Given the description of an element on the screen output the (x, y) to click on. 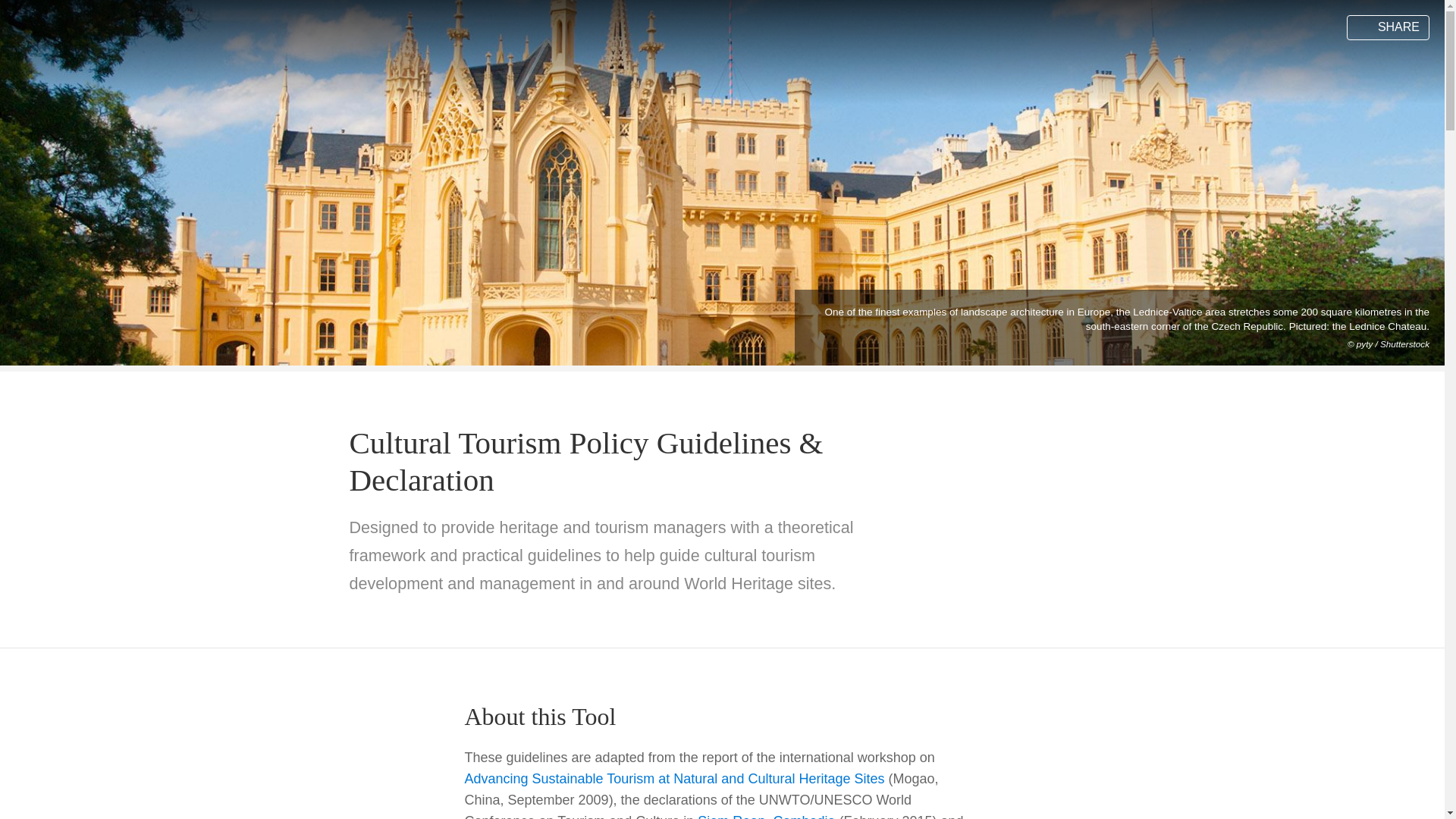
Siem Reap, Cambodia (765, 816)
SHARE (1387, 27)
Back (28, 29)
Home (75, 27)
